Given the description of an element on the screen output the (x, y) to click on. 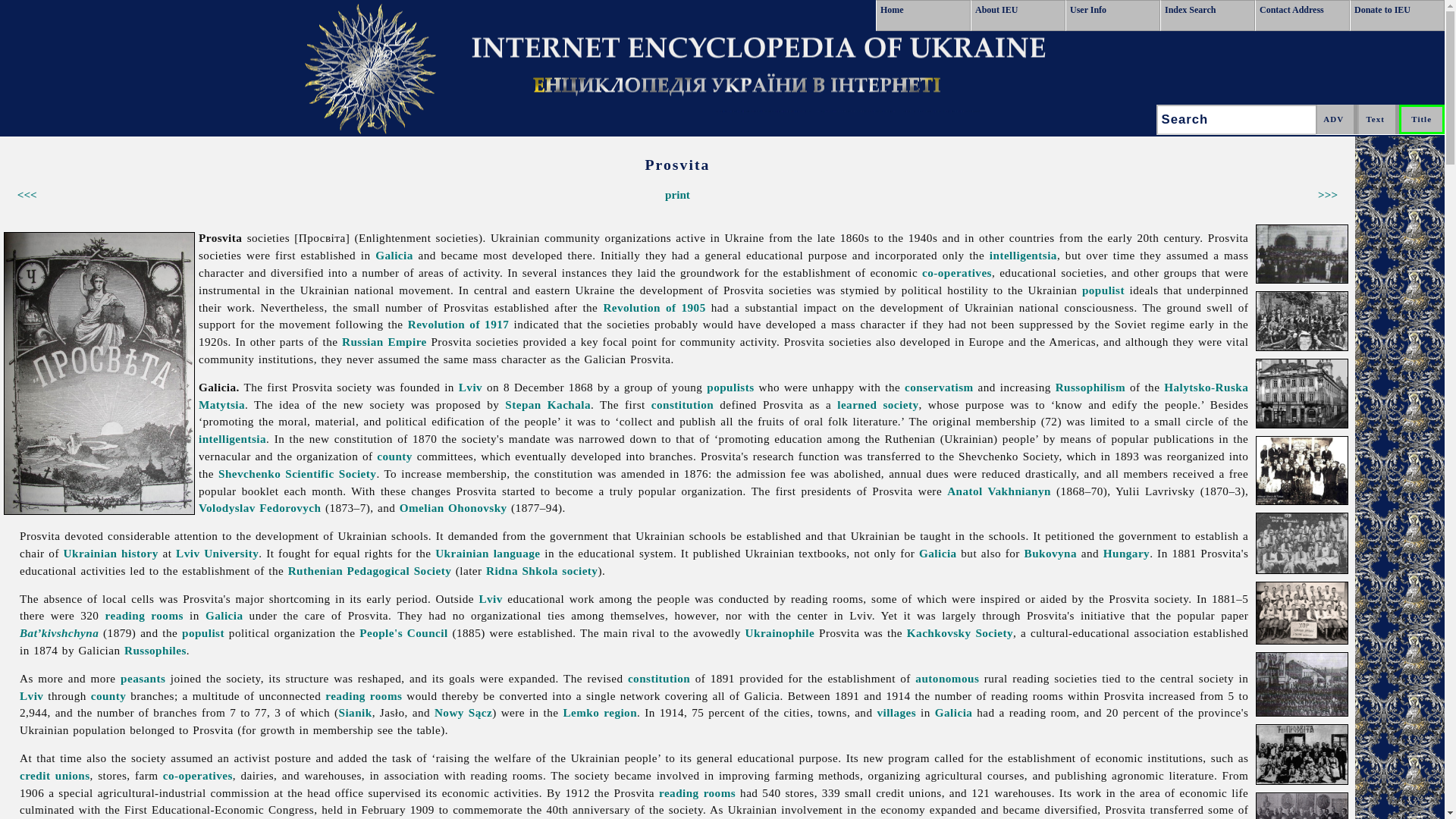
 View user's instructions, tips and editorial information  (1112, 15)
print (677, 194)
intelligentsia (1023, 254)
Search (1239, 119)
Contact Address (1302, 15)
  Use advanced  search  functions to search IEU database  (1335, 119)
 Full Text Search  (1377, 119)
User Info (1112, 15)
Home (923, 15)
View black-on-white text, print, copy-and-paste (677, 194)
ADV  (1335, 119)
 Go to Home Page  (923, 15)
Revolution of 1905 (653, 307)
 Contact IEU staff  (1302, 15)
Text  (1377, 119)
